Given the description of an element on the screen output the (x, y) to click on. 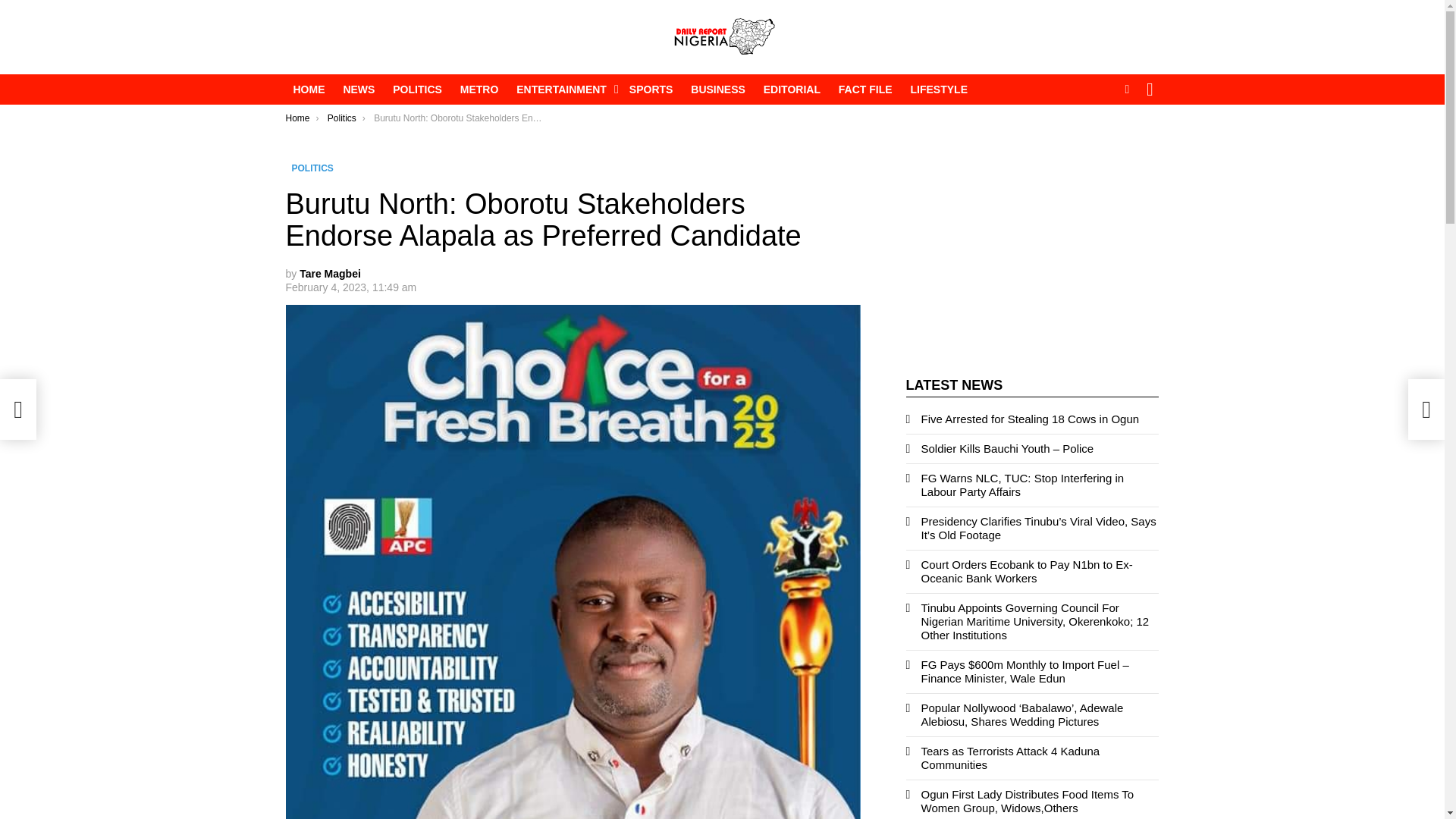
Posts by Tare Magbei (330, 273)
EDITORIAL (791, 88)
BUSINESS (717, 88)
HOME (308, 88)
NEWS (357, 88)
METRO (479, 88)
POLITICS (417, 88)
LIFESTYLE (938, 88)
SPORTS (651, 88)
